Given the description of an element on the screen output the (x, y) to click on. 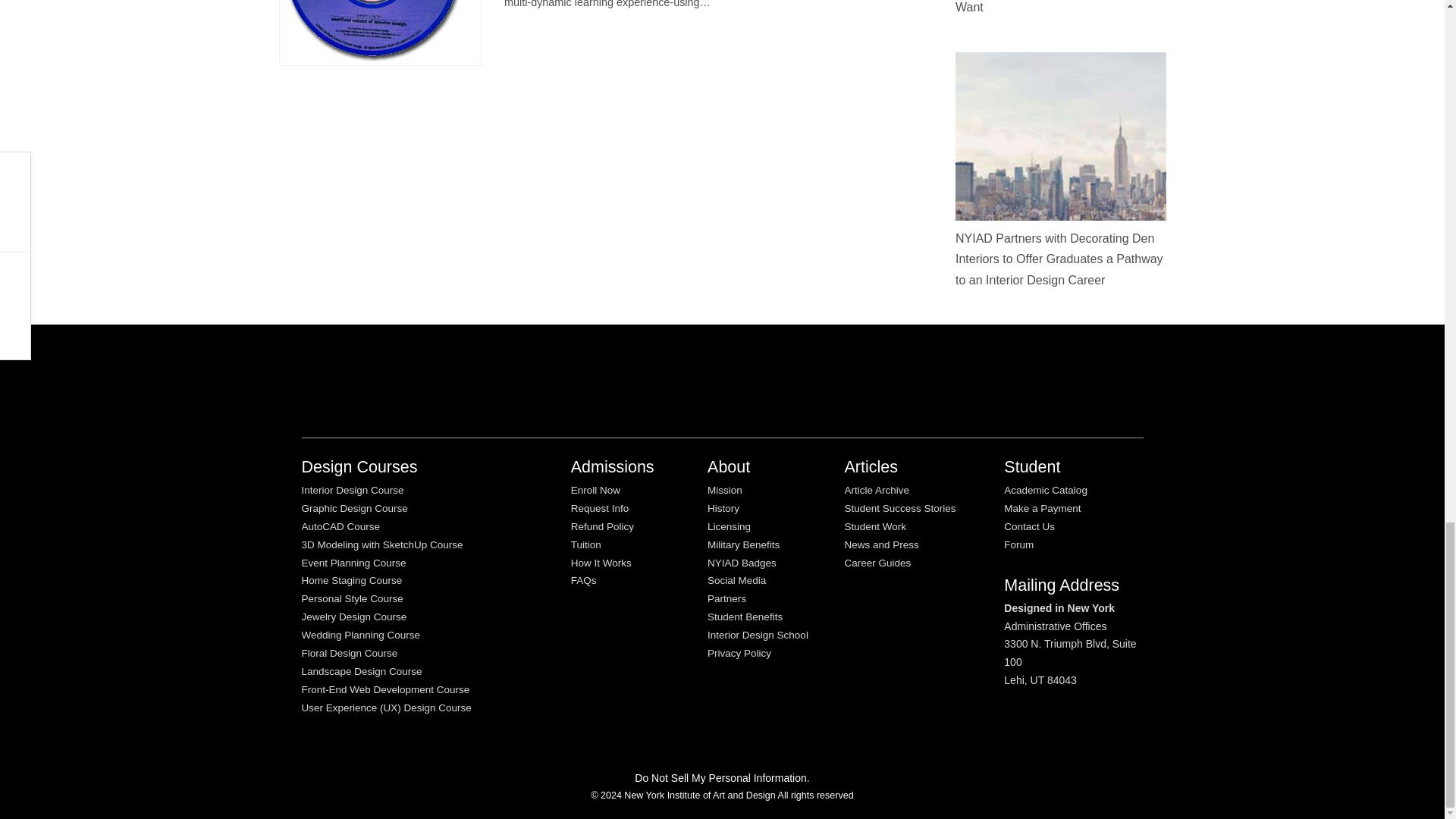
Stack Skills to Build the Career You Want (1050, 6)
